Given the description of an element on the screen output the (x, y) to click on. 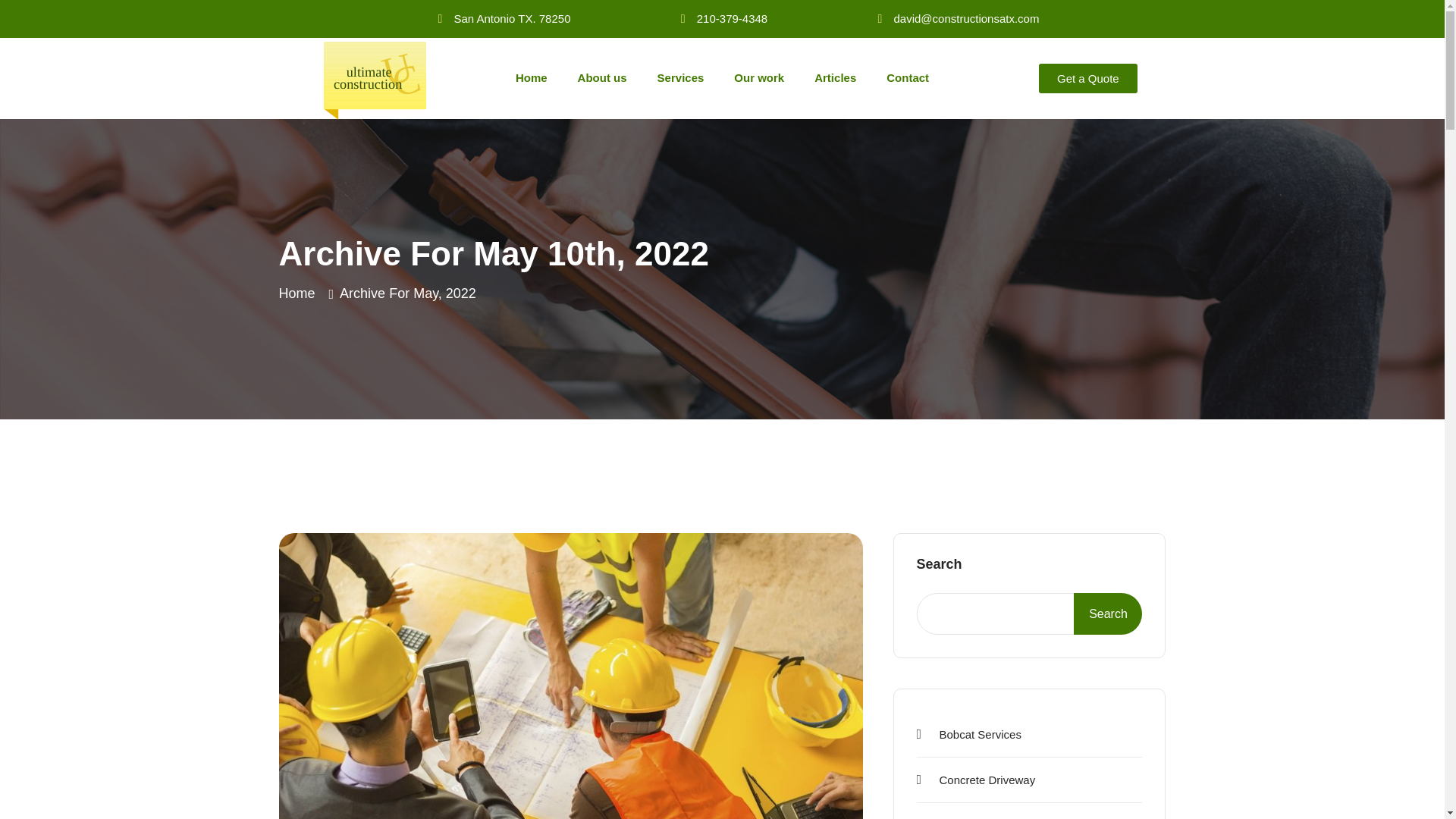
Our work (759, 77)
San Antonio TX. 78250 (511, 18)
Services (680, 77)
Home (531, 77)
Articles (834, 77)
210-379-4348 (732, 18)
Contact (906, 77)
About us (602, 77)
